Given the description of an element on the screen output the (x, y) to click on. 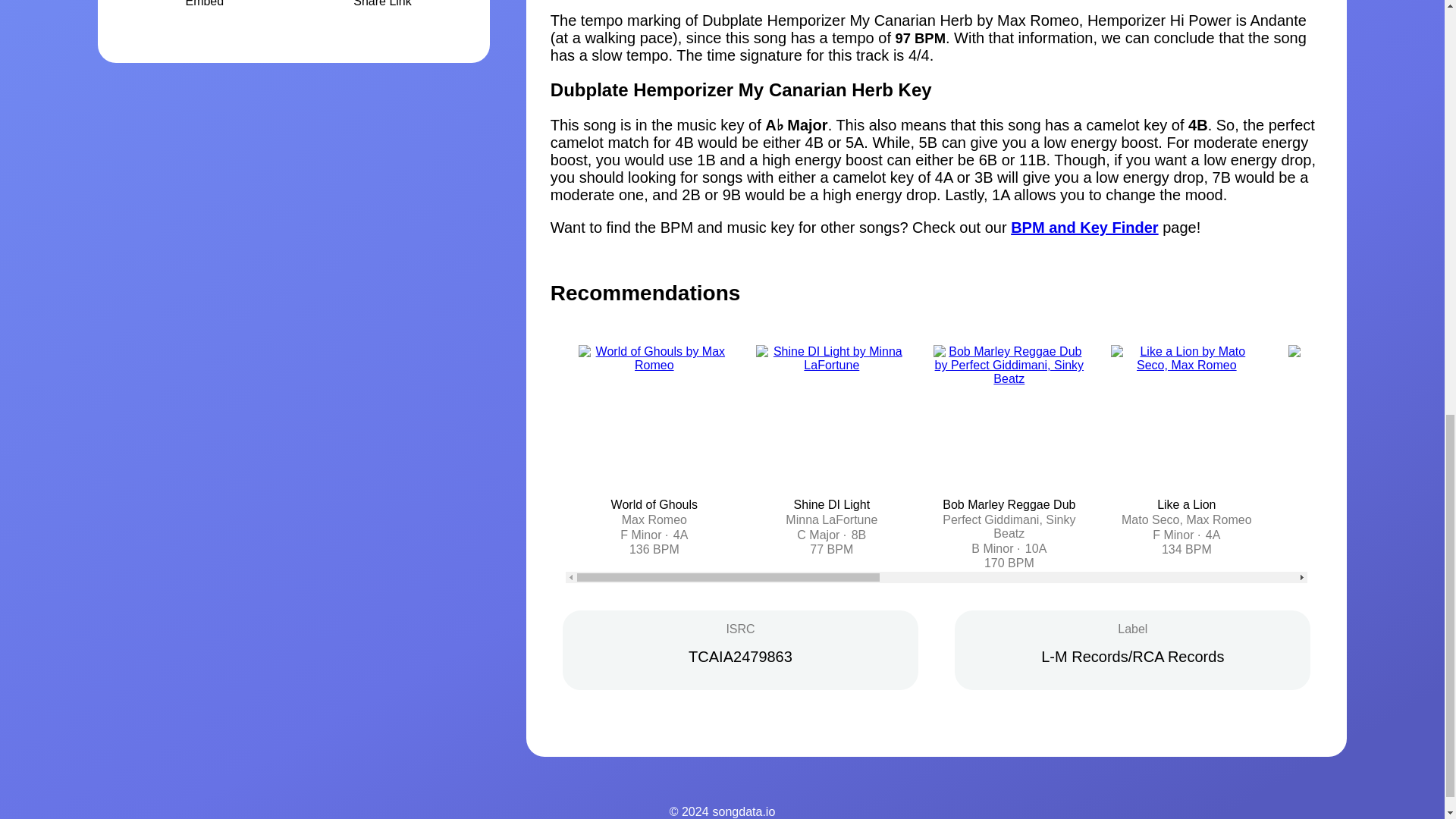
World of Ghouls (654, 504)
Like a Lion (1186, 504)
97 BPM (919, 37)
BPM and Key Finder (1083, 227)
Shine DI Light (831, 504)
Cork The Party (1364, 504)
Bob Marley Reggae Dub (1008, 504)
